Given the description of an element on the screen output the (x, y) to click on. 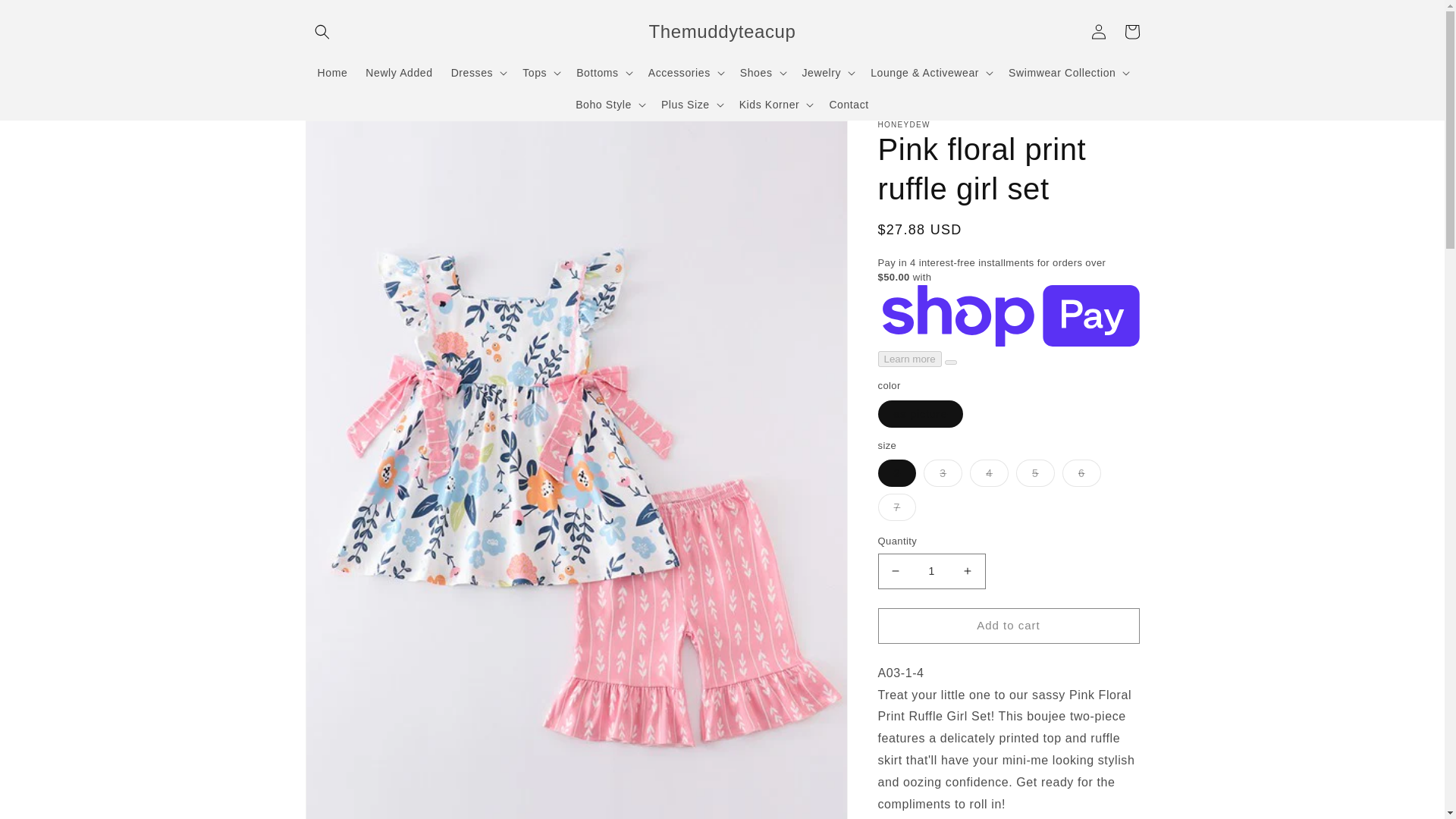
1 (931, 570)
Skip to content (45, 17)
